Given the description of an element on the screen output the (x, y) to click on. 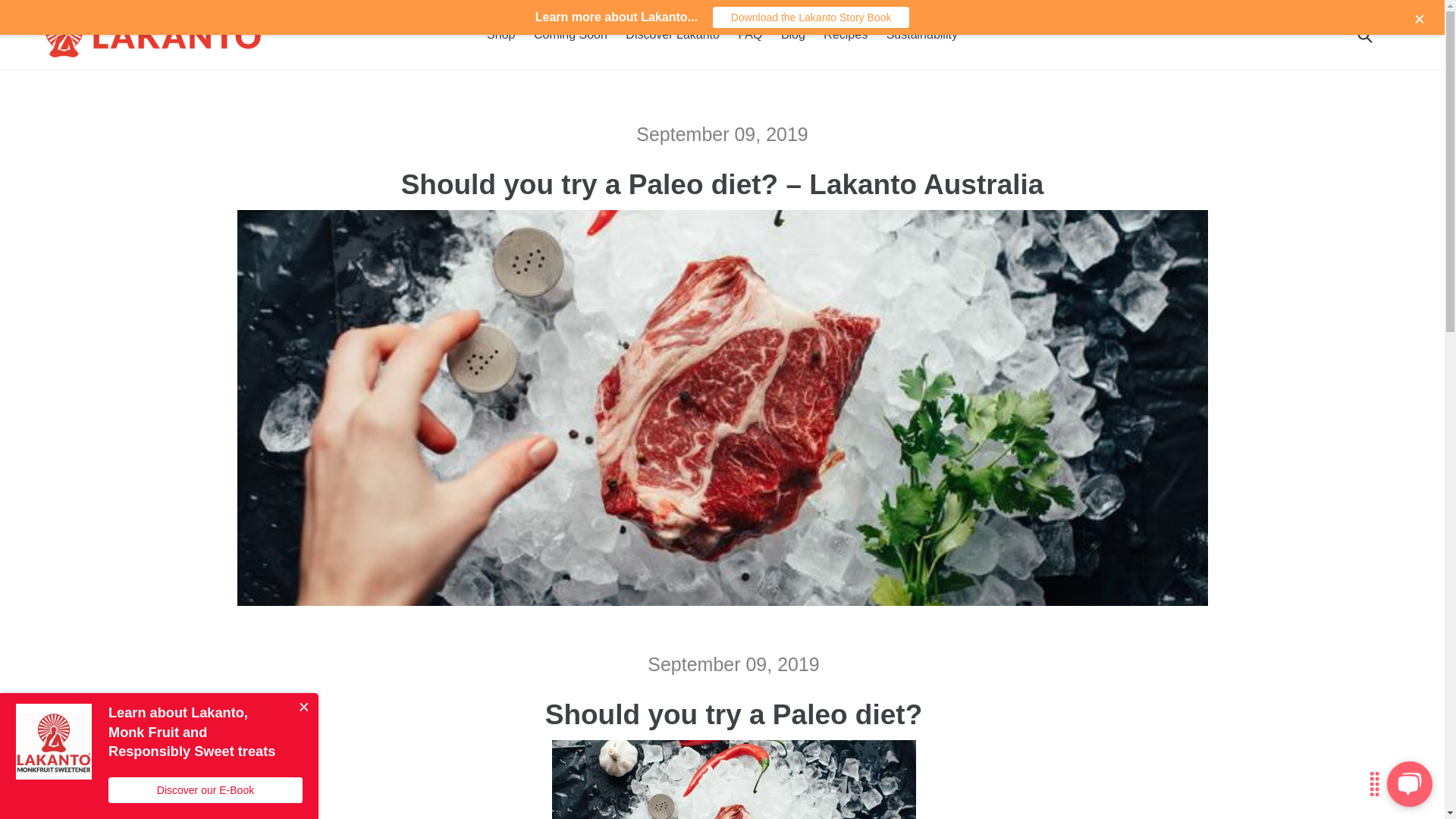
Sustainability (922, 34)
Coming Soon (569, 34)
Blog (792, 34)
Recipes (845, 34)
FAQ (750, 34)
Shop (500, 34)
Discover Lakanto (671, 34)
